Given the description of an element on the screen output the (x, y) to click on. 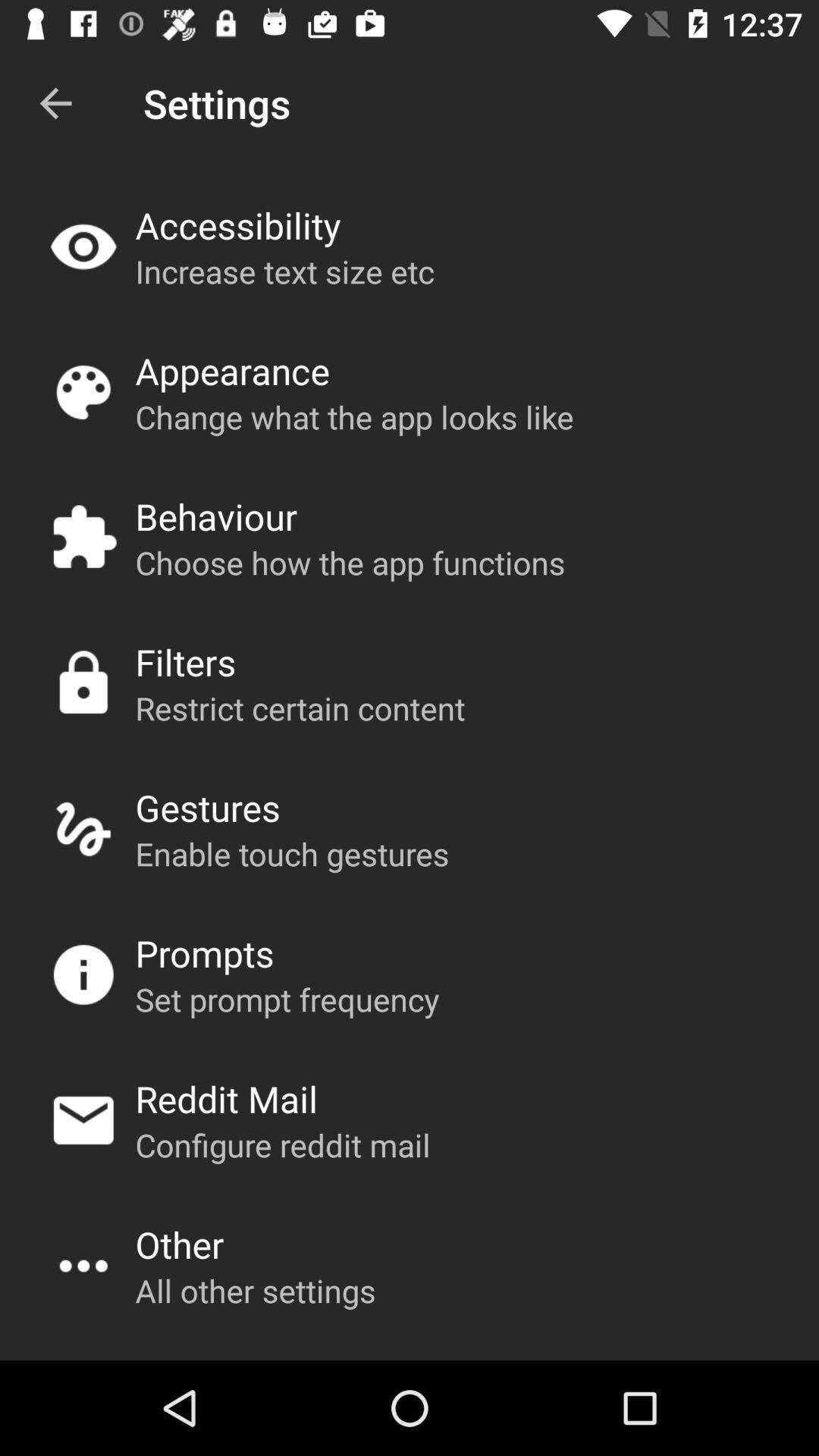
launch the icon above prompts app (292, 853)
